Given the description of an element on the screen output the (x, y) to click on. 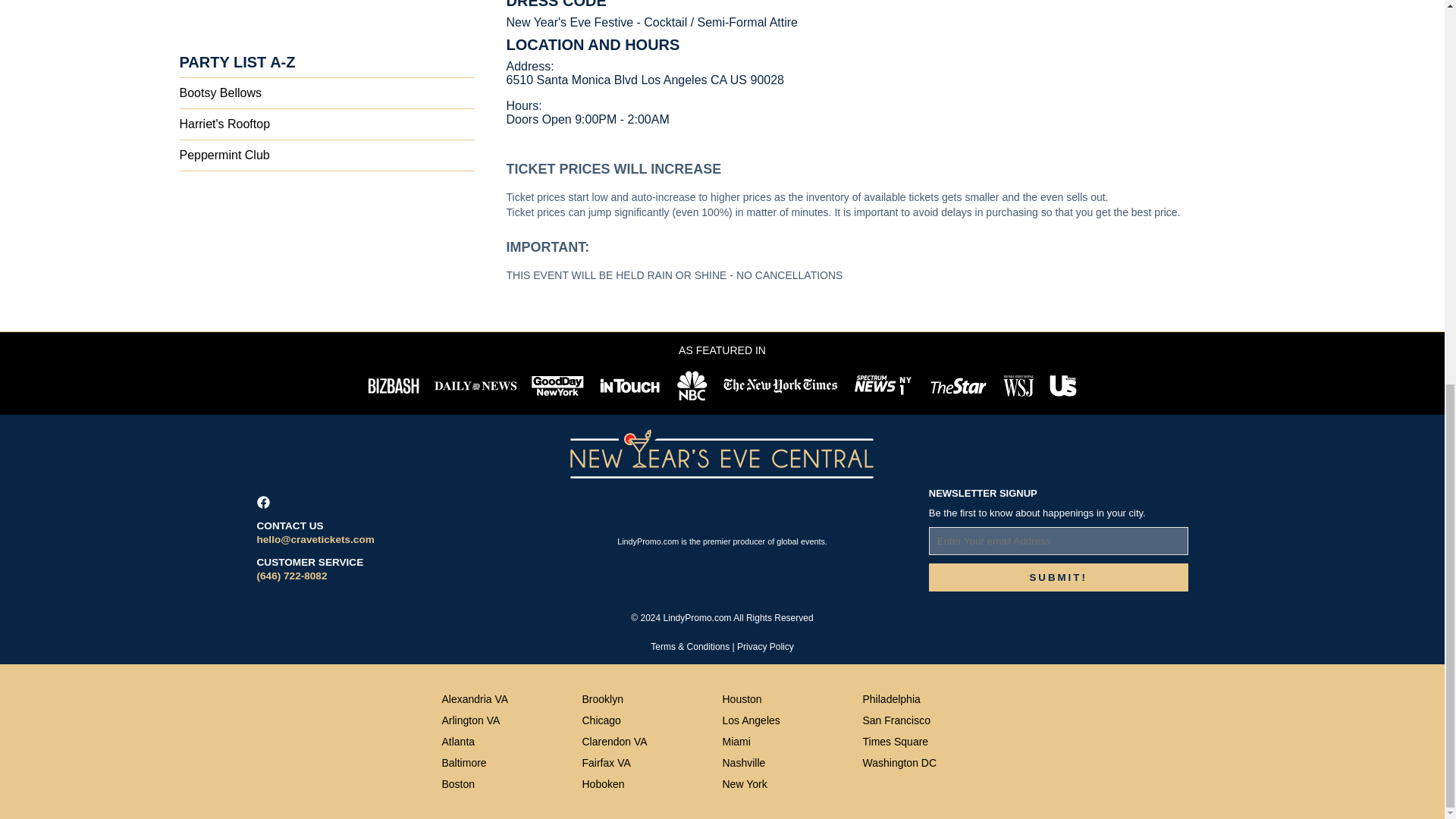
Chicago (652, 720)
Harriet's Rooftop (224, 123)
Alexandria VA (510, 699)
Atlanta (510, 741)
Brooklyn (652, 699)
Peppermint Club (224, 154)
New York (791, 783)
Clarendon VA (652, 741)
Houston (791, 699)
SUBMIT! (1058, 577)
